Given the description of an element on the screen output the (x, y) to click on. 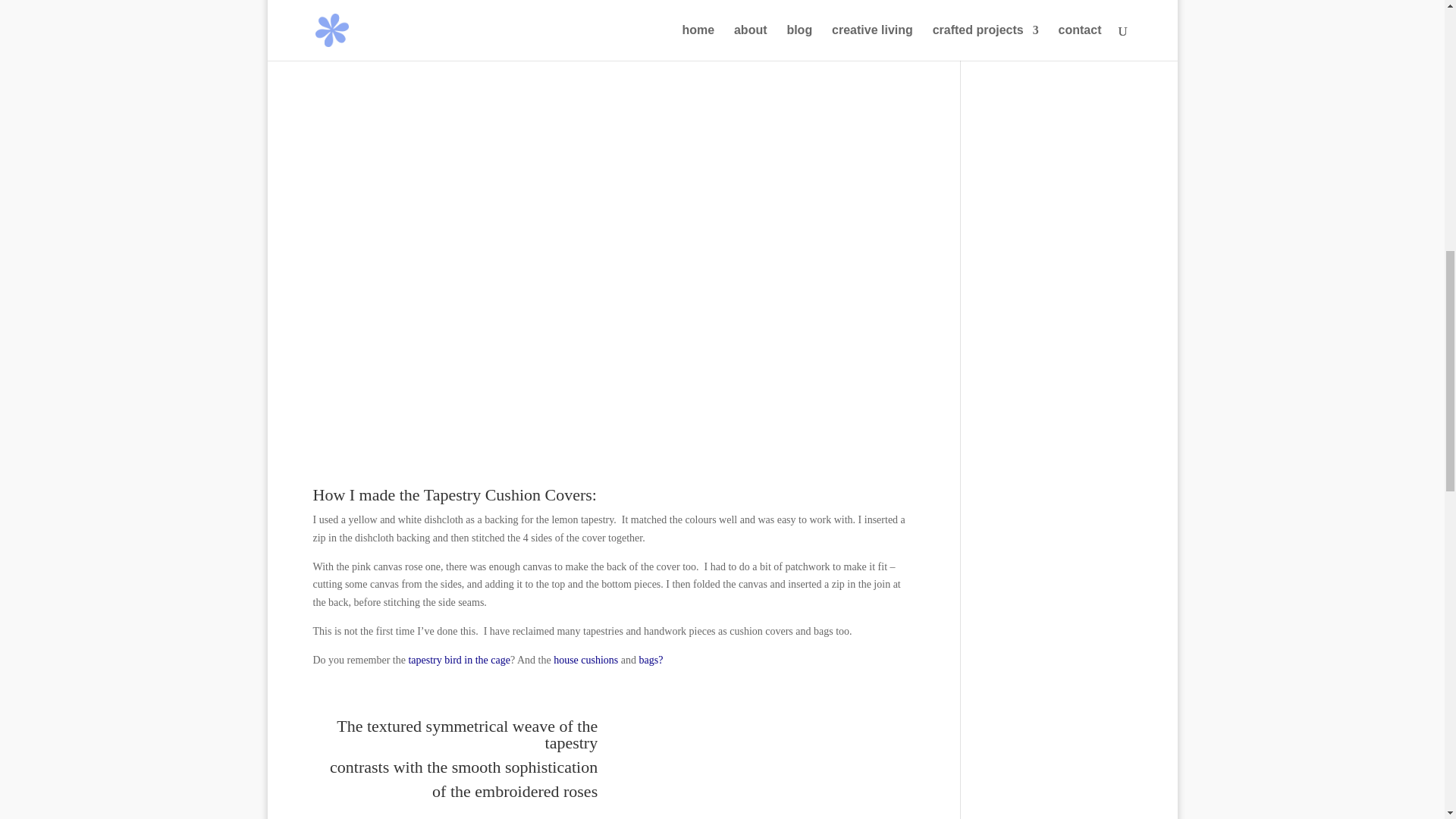
bags? (651, 659)
tapestry bird in the cage (459, 659)
house cushions (587, 659)
